Given the description of an element on the screen output the (x, y) to click on. 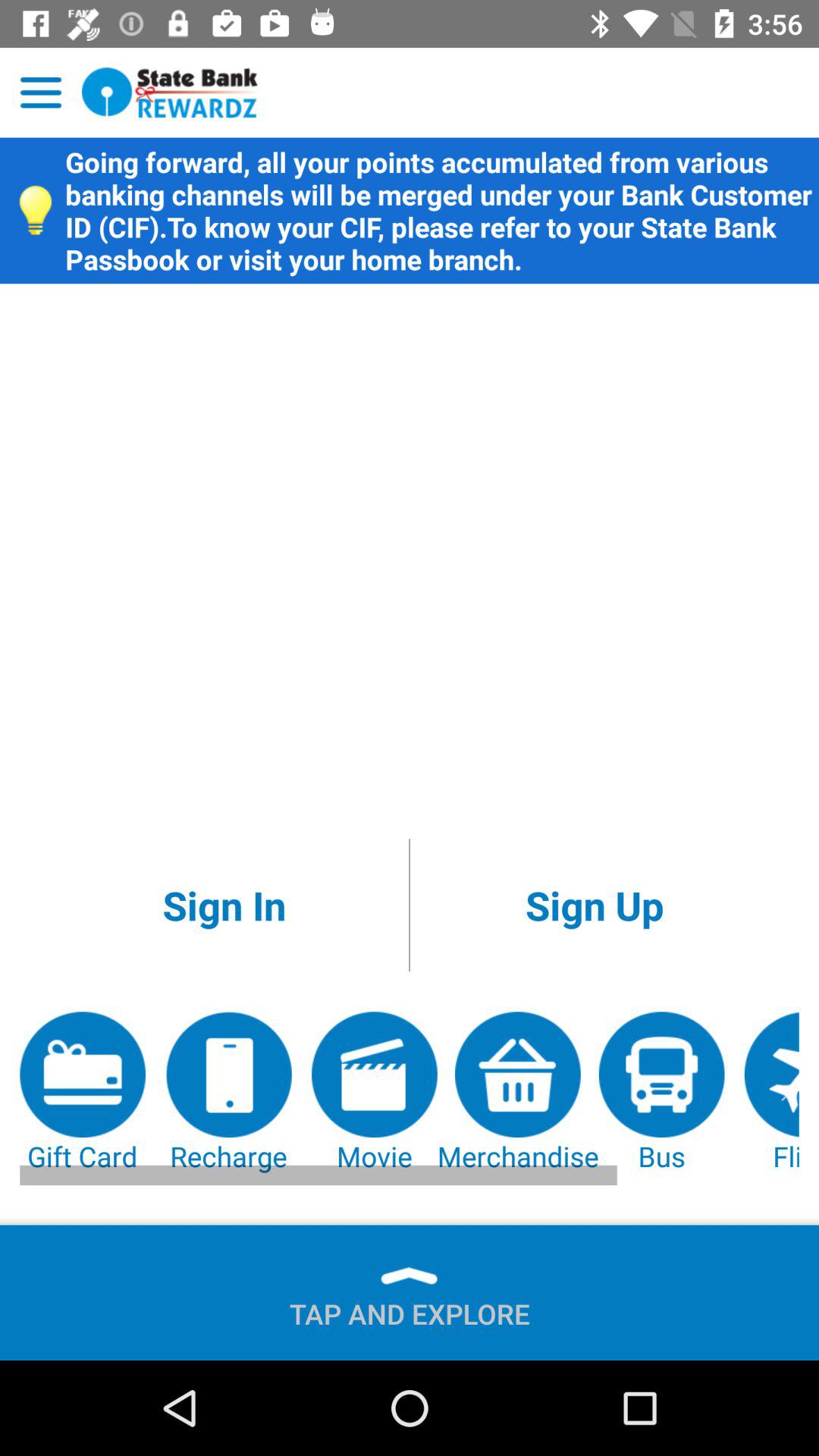
click item below the going forward all item (223, 904)
